Given the description of an element on the screen output the (x, y) to click on. 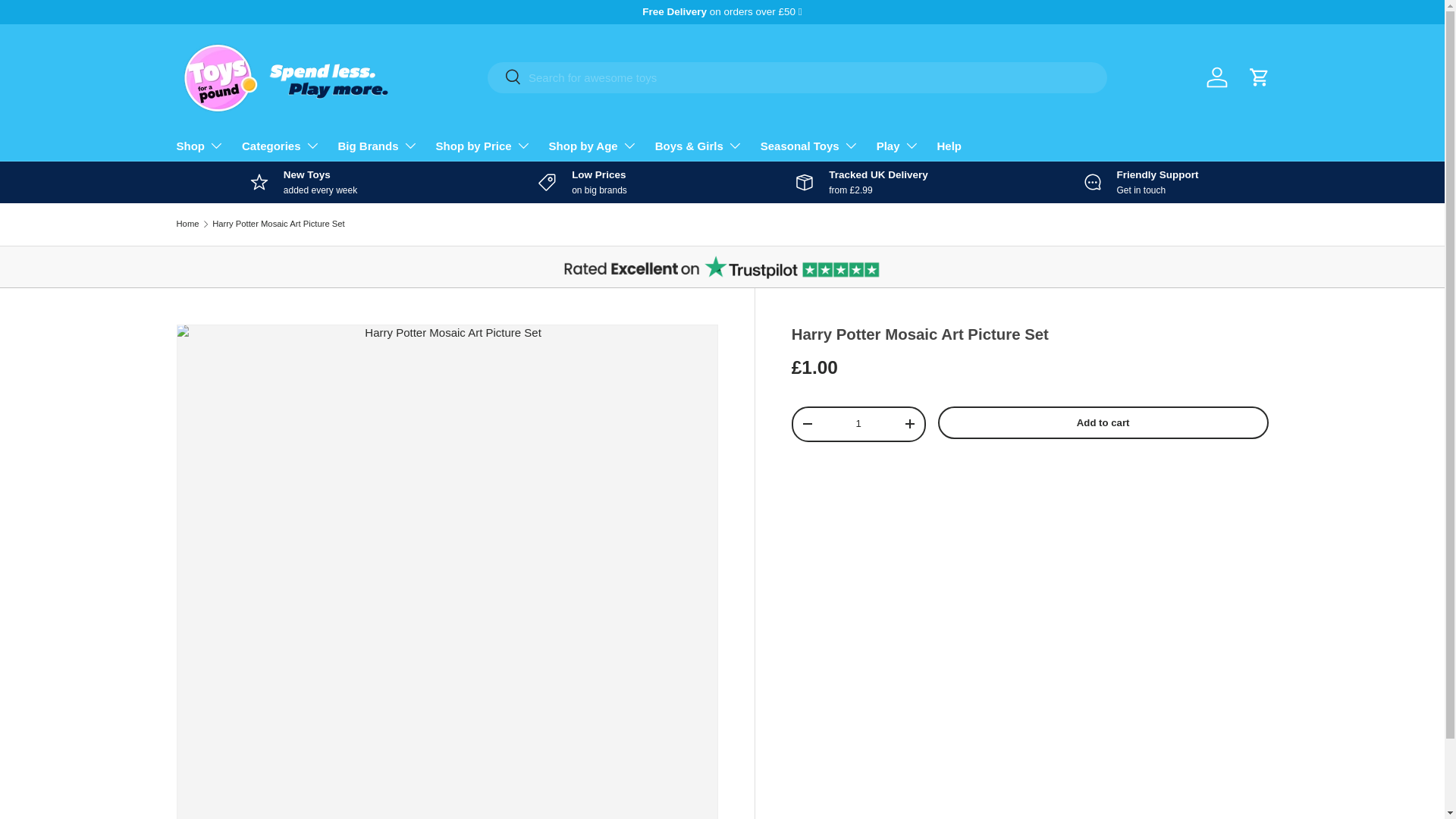
Big Brands (377, 145)
Cart (1258, 77)
Shop (200, 145)
Skip to content (69, 21)
1 (858, 423)
Categories (280, 145)
Search (504, 77)
Log in (1216, 77)
